Given the description of an element on the screen output the (x, y) to click on. 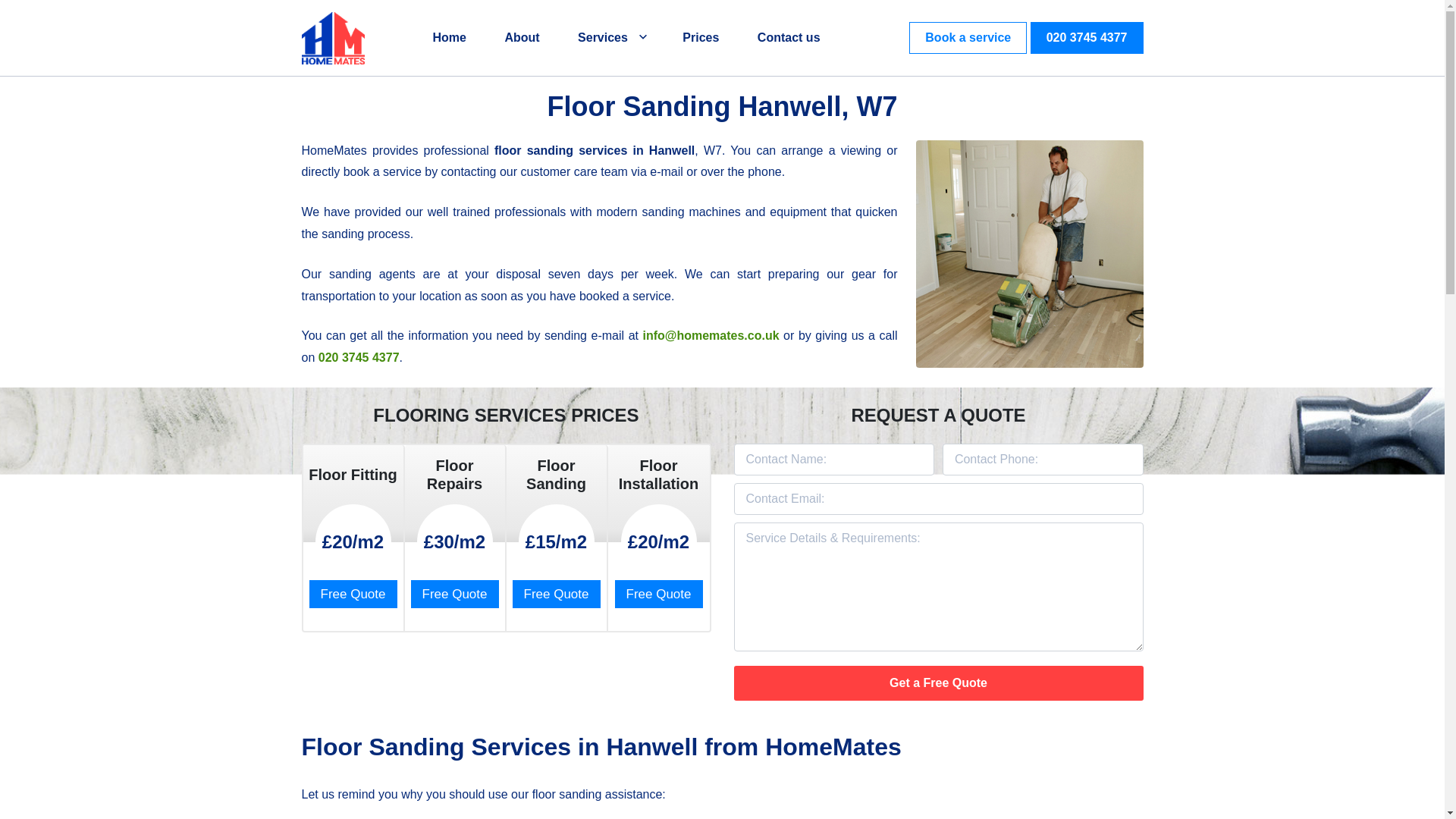
Home (448, 37)
Services (611, 37)
Contact us (789, 37)
Book a service (967, 38)
020 3745 4377 (1086, 38)
About (520, 37)
Free Quote (454, 593)
Get a Free Quote (937, 683)
Get a Free Quote (937, 683)
Prices (701, 37)
